Given the description of an element on the screen output the (x, y) to click on. 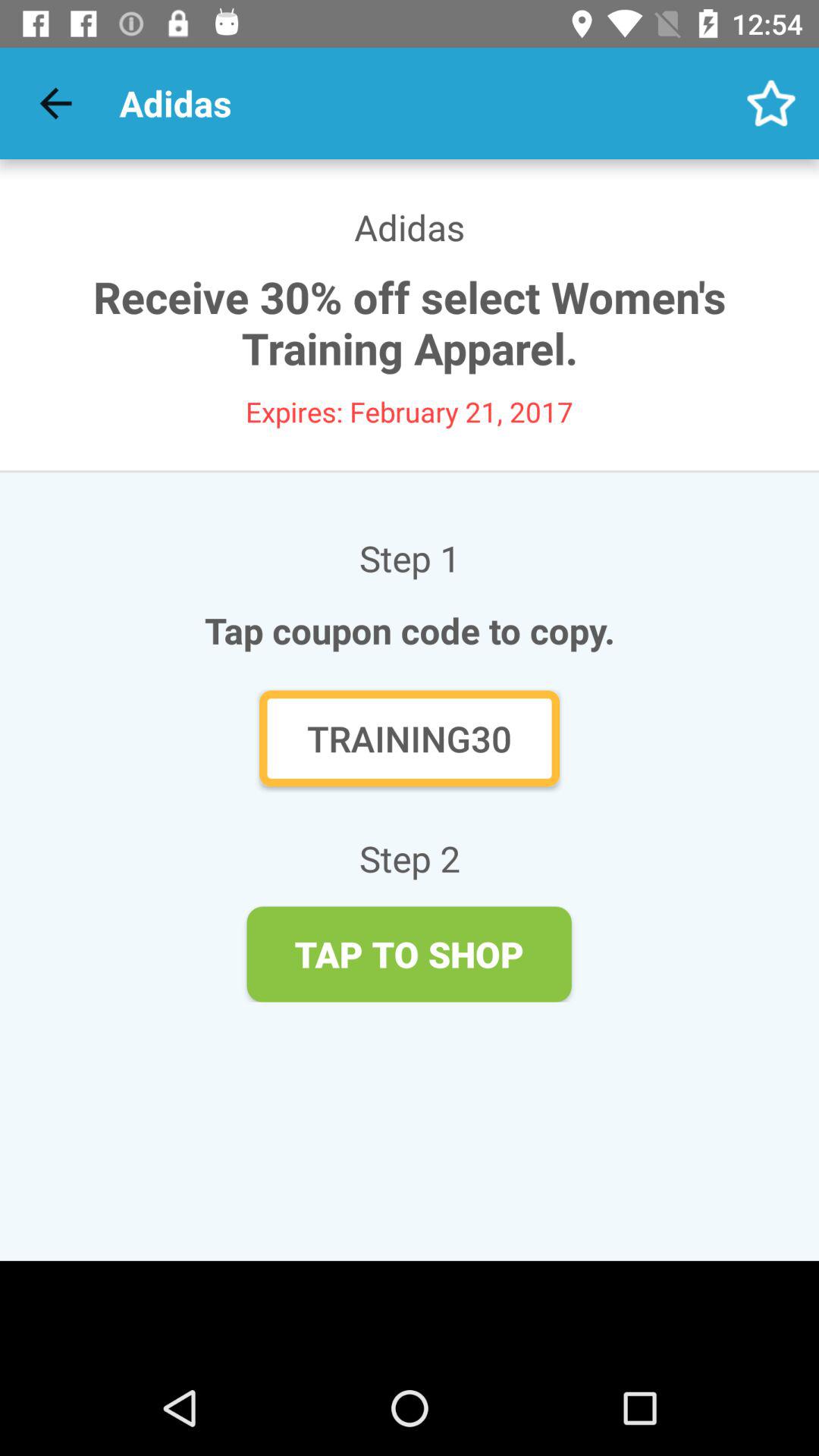
launch the icon to the right of adidas icon (771, 103)
